Given the description of an element on the screen output the (x, y) to click on. 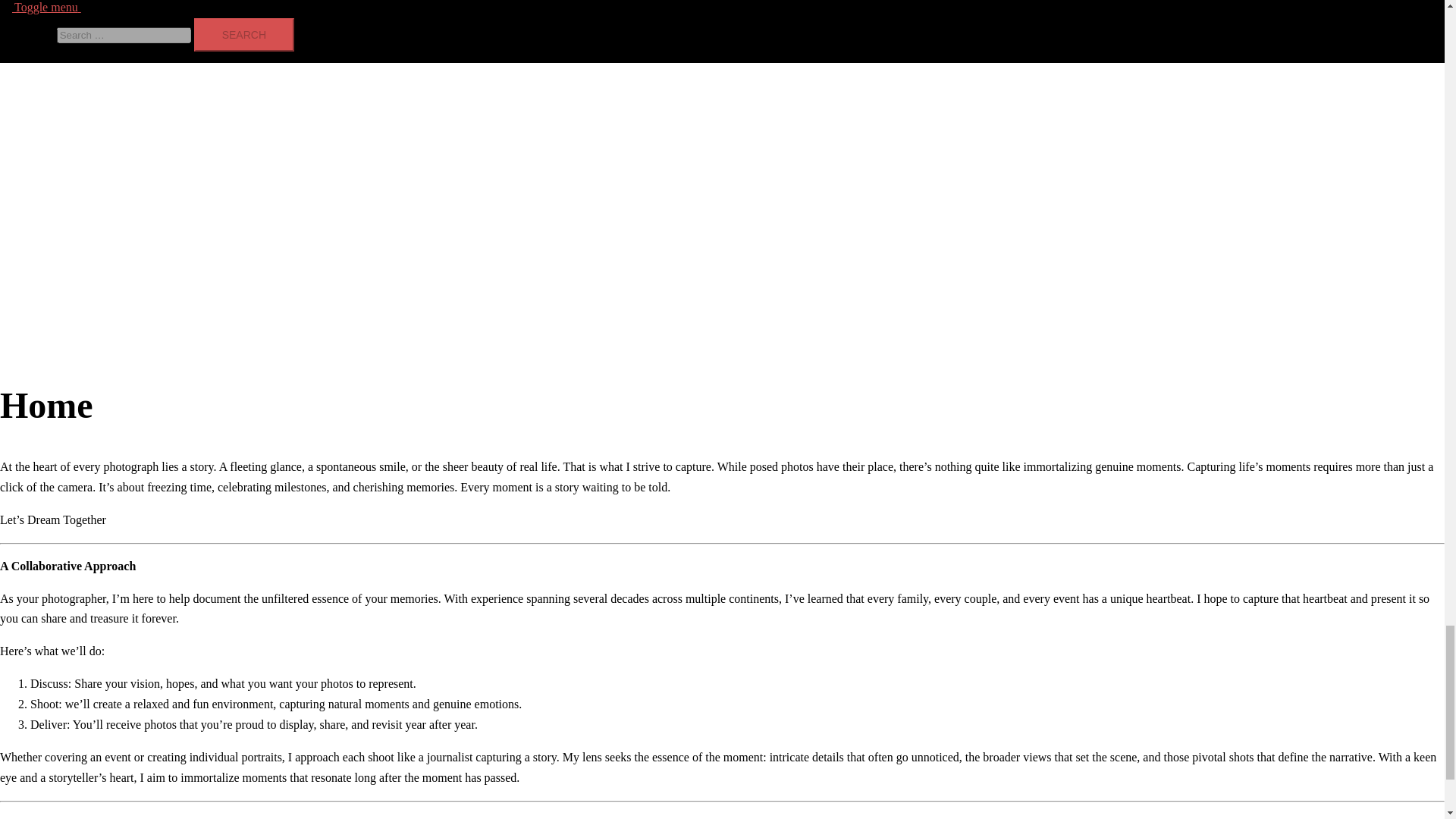
Toggle menu (53, 6)
Search (243, 34)
Search (243, 34)
Search (243, 34)
